Given the description of an element on the screen output the (x, y) to click on. 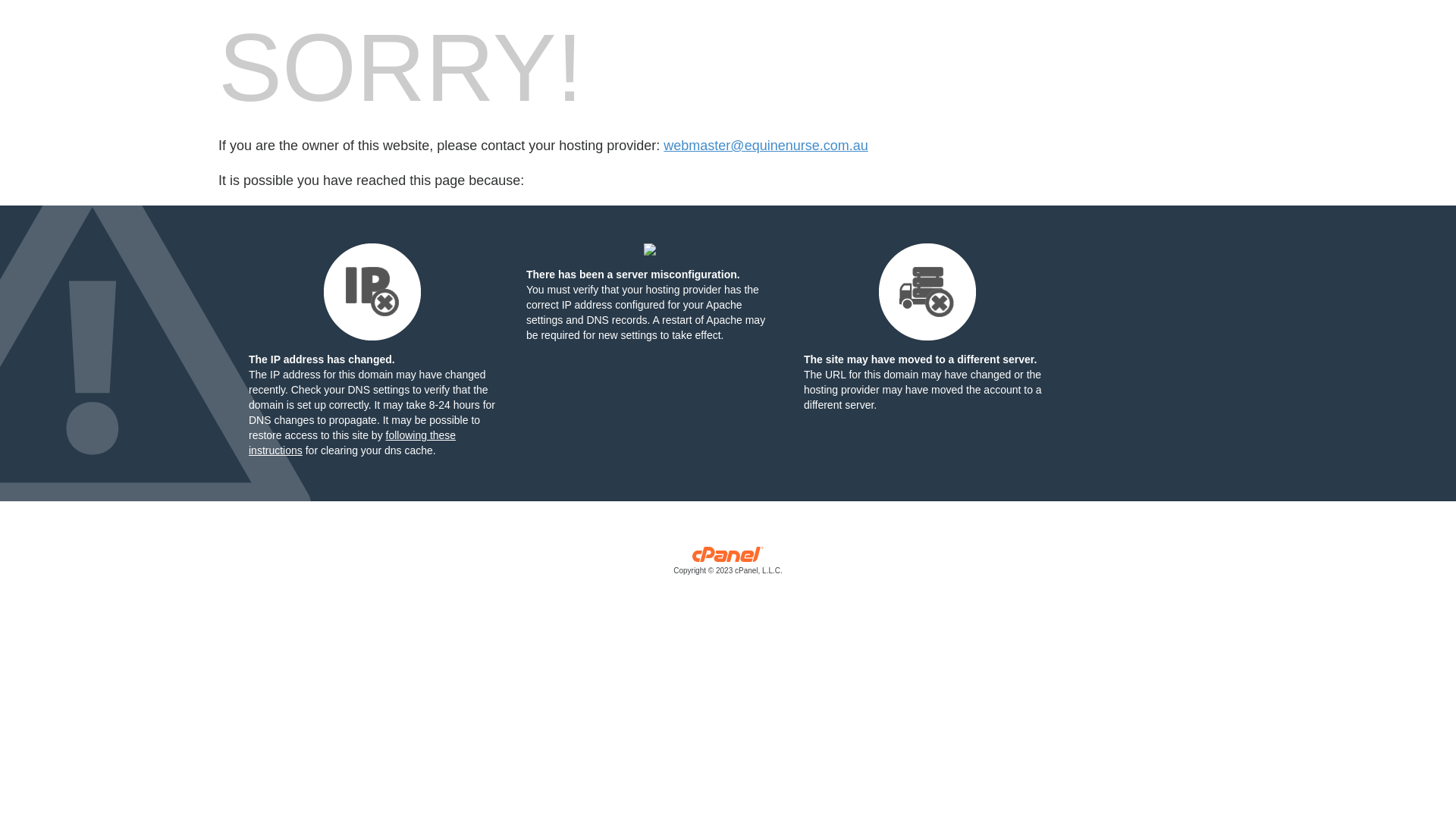
webmaster@equinenurse.com.au Element type: text (765, 145)
following these instructions Element type: text (351, 442)
